Given the description of an element on the screen output the (x, y) to click on. 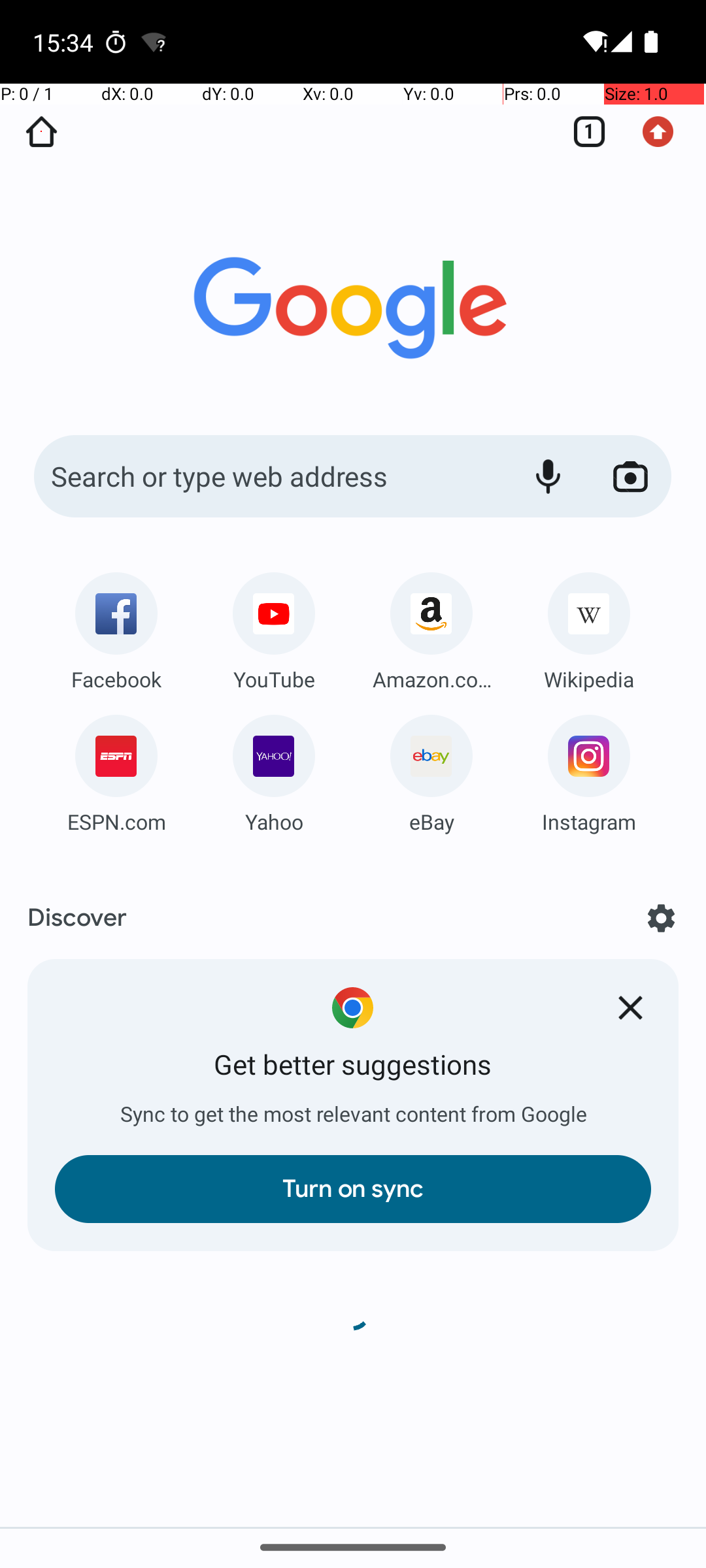
Update available. More options Element type: android.widget.ImageButton (664, 131)
Search or type web address Element type: android.widget.EditText (267, 476)
Start voice search Element type: android.widget.ImageView (547, 476)
Search with your camera using Google Lens Element type: android.widget.ImageView (629, 476)
Navigate: Facebook: m.facebook.com Element type: android.widget.FrameLayout (115, 626)
Navigate: YouTube: m.youtube.com Element type: android.widget.FrameLayout (273, 626)
Navigate: Amazon.com: www.amazon.com Element type: android.widget.FrameLayout (431, 626)
Navigate: Wikipedia: en.m.wikipedia.org Element type: android.widget.FrameLayout (588, 626)
Navigate: ESPN.com: www.espn.com Element type: android.widget.FrameLayout (115, 768)
Navigate: Yahoo: www.yahoo.com Element type: android.widget.FrameLayout (273, 768)
Navigate: eBay: m.ebay.com Element type: android.widget.FrameLayout (431, 768)
Navigate: Instagram: www.instagram.com Element type: android.widget.FrameLayout (588, 768)
Options for Discover Element type: android.widget.ImageButton (660, 917)
Get better suggestions Element type: android.widget.TextView (352, 1065)
Sync to get the most relevant content from Google Element type: android.widget.TextView (352, 1114)
Turn on sync Element type: android.widget.Button (352, 1188)
Facebook Element type: android.widget.TextView (115, 679)
Amazon.com Element type: android.widget.TextView (430, 679)
Wikipedia Element type: android.widget.TextView (588, 679)
ESPN.com Element type: android.widget.TextView (115, 821)
Yahoo Element type: android.widget.TextView (273, 821)
eBay Element type: android.widget.TextView (430, 821)
Instagram Element type: android.widget.TextView (588, 821)
